Given the description of an element on the screen output the (x, y) to click on. 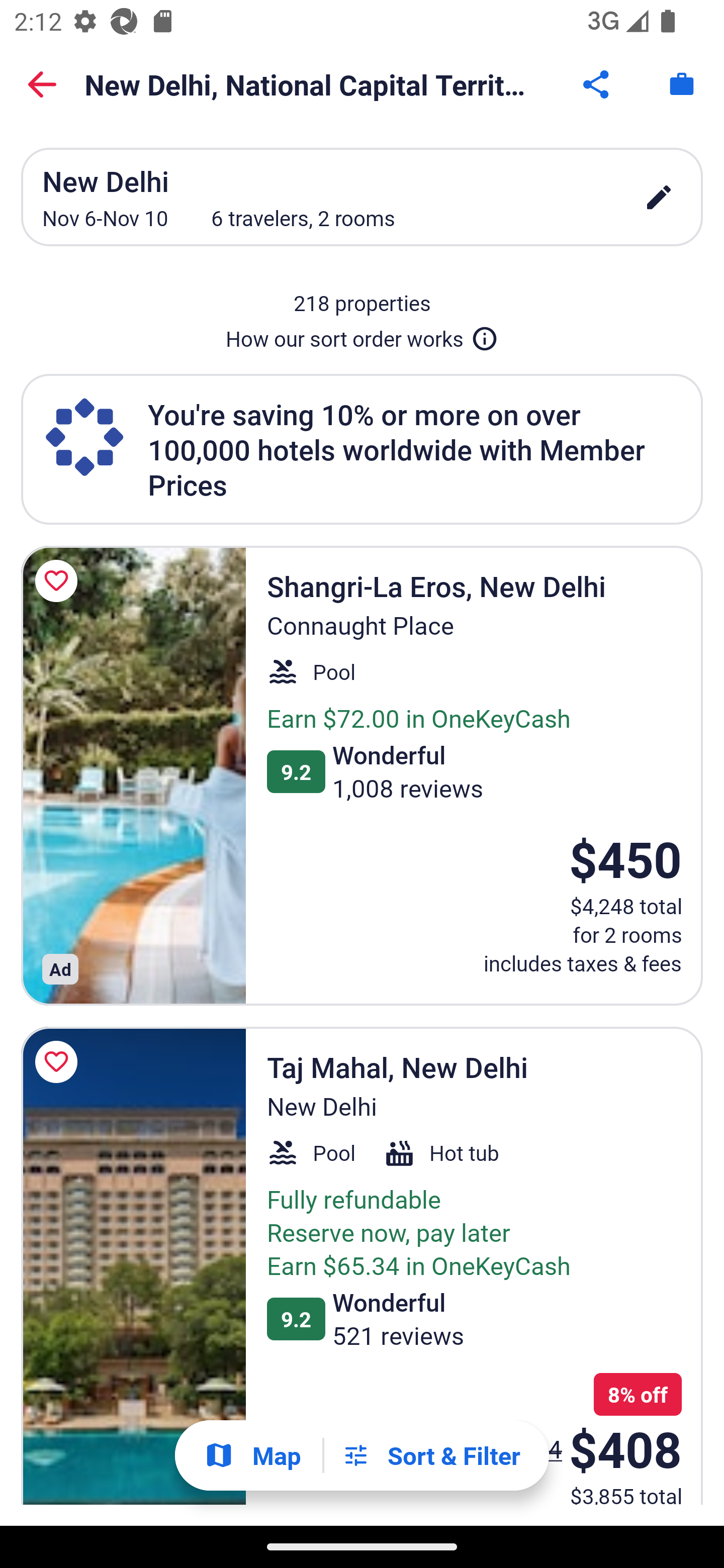
Back (42, 84)
Share Button (597, 84)
Trips. Button (681, 84)
New Delhi Nov 6-Nov 10 6 travelers, 2 rooms edit (361, 196)
How our sort order works (361, 334)
Save Shangri-La Eros, New Delhi to a trip (59, 580)
Shangri-La Eros, New Delhi (133, 775)
Save Taj Mahal, New Delhi to a trip (59, 1061)
Taj Mahal, New Delhi (133, 1266)
Filters Sort & Filter Filters Button (430, 1455)
Show map Map Show map Button (252, 1455)
